Given the description of an element on the screen output the (x, y) to click on. 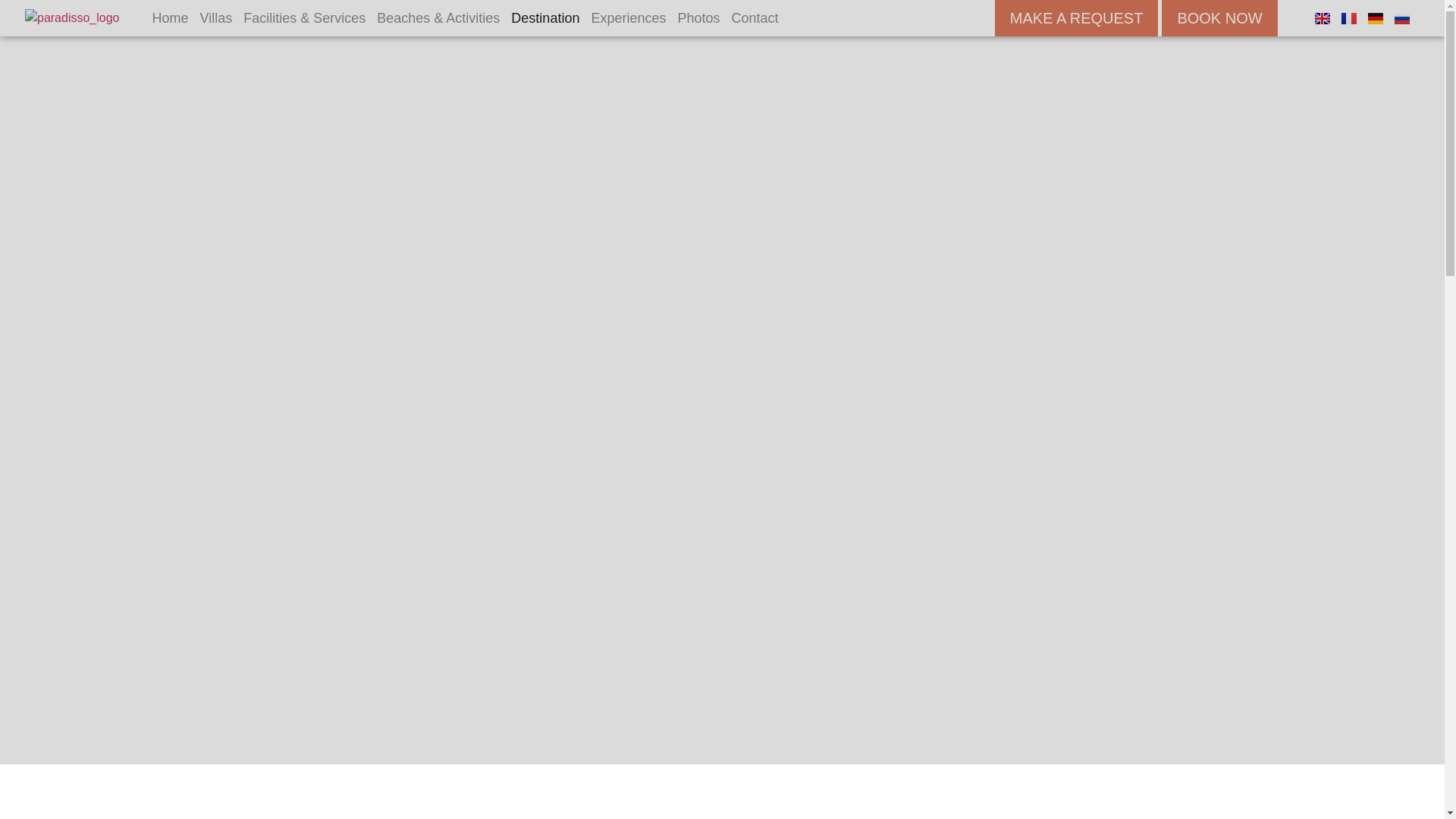
Destination (545, 17)
MAKE A REQUEST (1076, 18)
BOOK NOW (1218, 18)
Experiences (628, 17)
Villas (216, 17)
Photos (698, 17)
Home (169, 17)
Contact (755, 17)
